Given the description of an element on the screen output the (x, y) to click on. 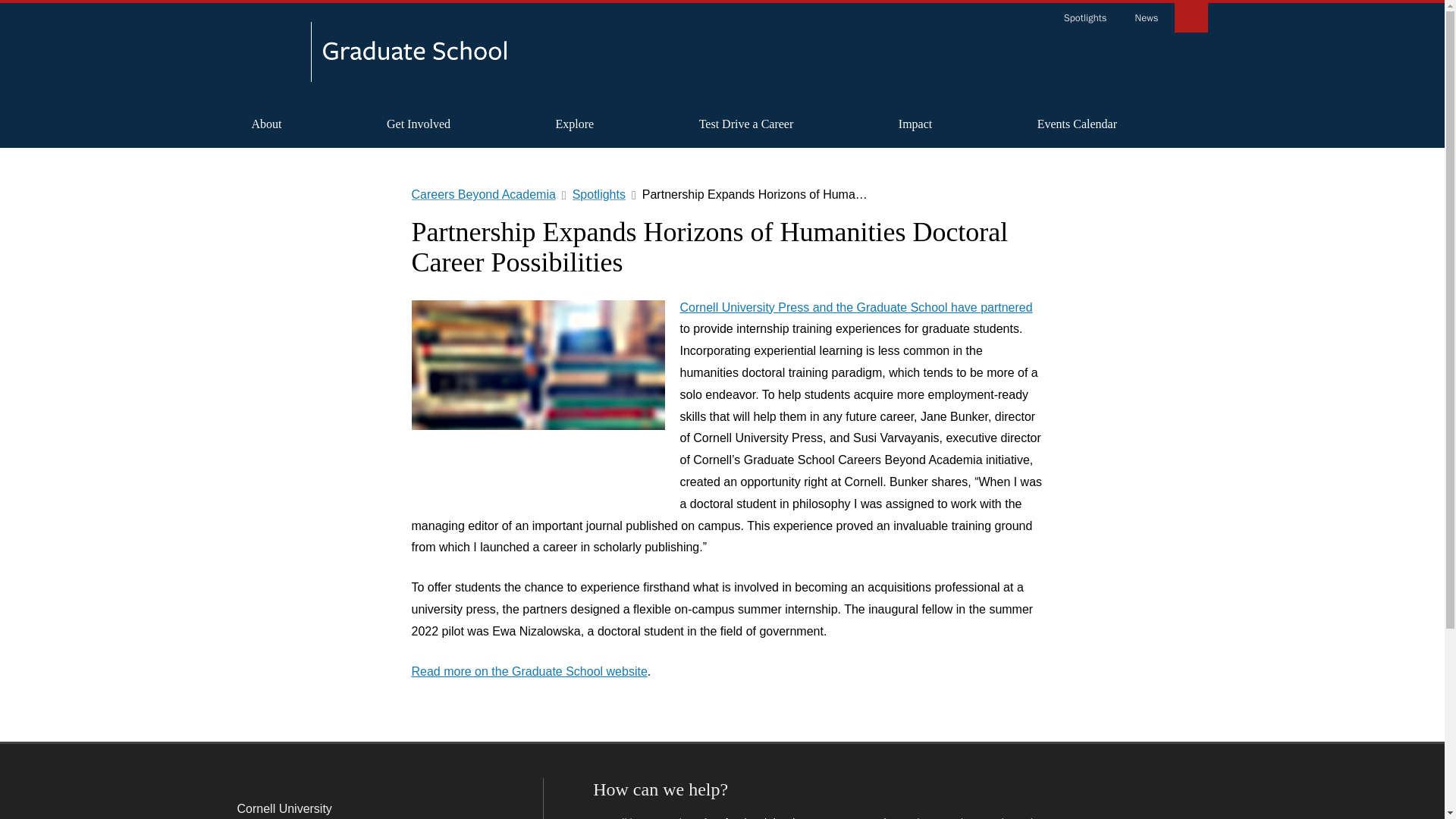
Get Involved (418, 123)
Impact (914, 123)
News (1146, 17)
Search (1190, 16)
About (265, 123)
Explore (574, 123)
Careers Beyond Academia (1082, 53)
Events Calendar (1077, 123)
Graduate School (414, 53)
Spotlights (1085, 17)
